Given the description of an element on the screen output the (x, y) to click on. 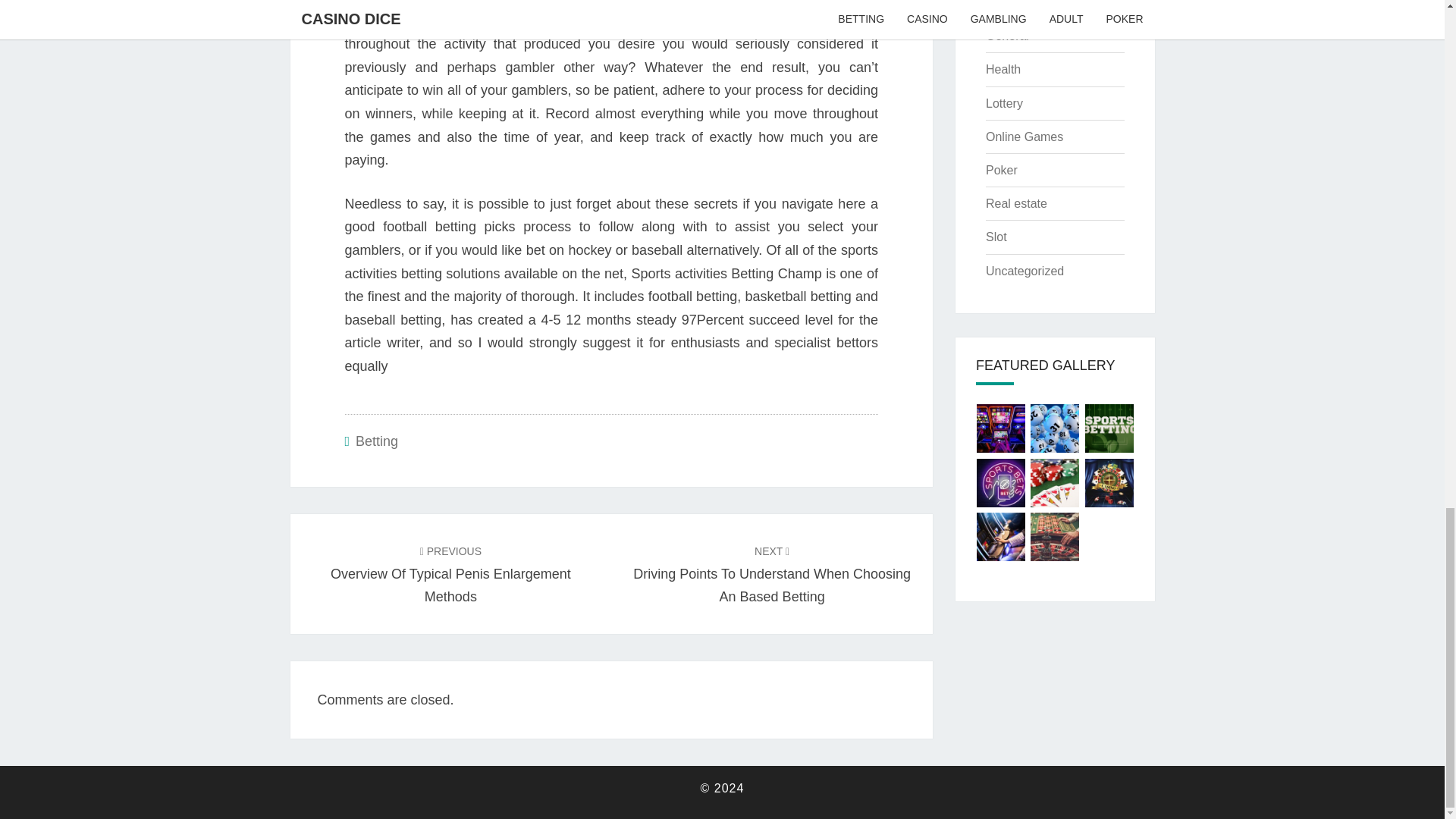
Uncategorized (1024, 270)
Online Games (1023, 136)
Gambling (1010, 4)
Health (1002, 69)
Real estate (1015, 203)
Betting (376, 441)
Poker (1001, 169)
Slot (996, 236)
General (1007, 35)
